Given the description of an element on the screen output the (x, y) to click on. 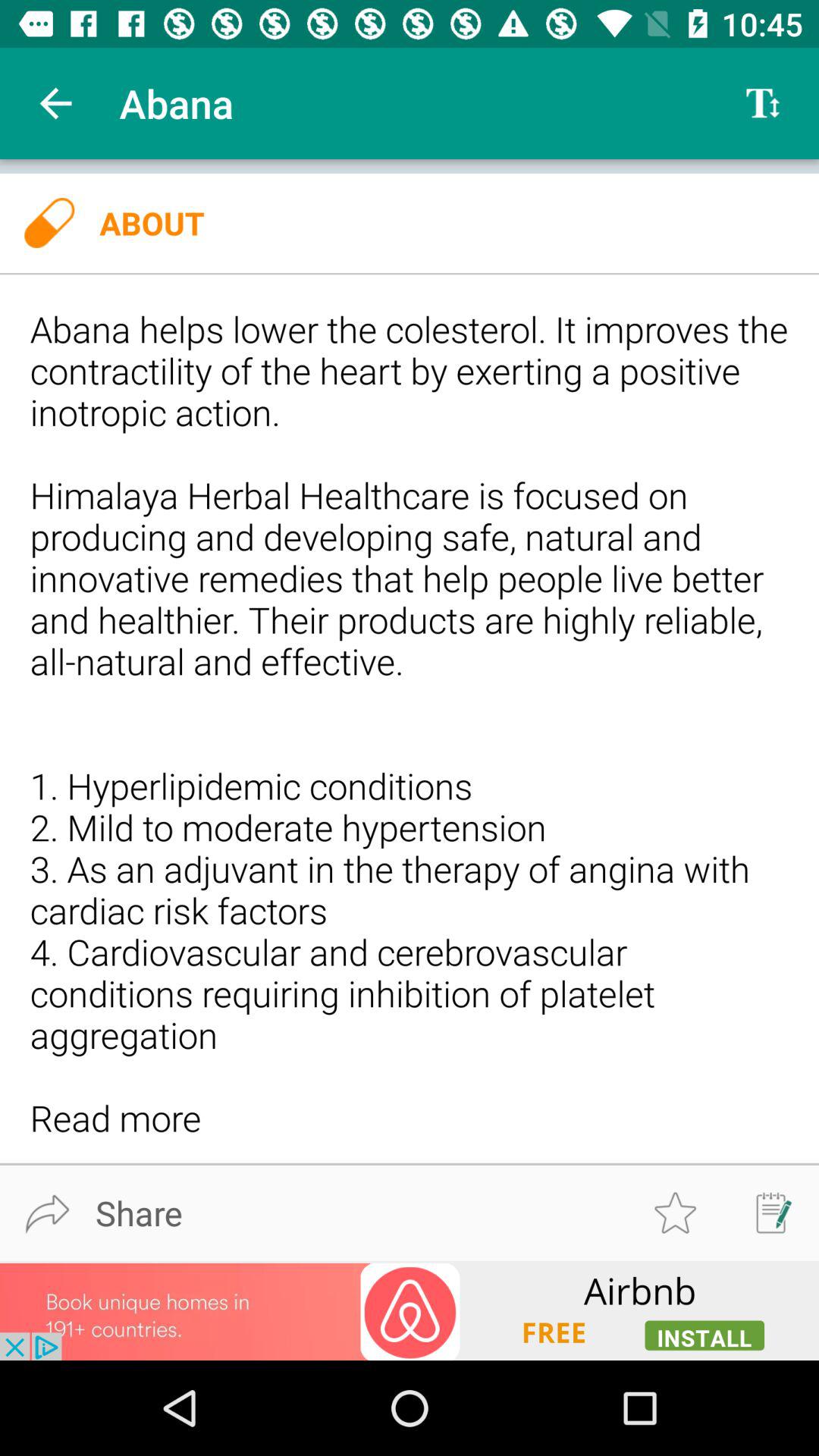
advertisement (409, 1310)
